Given the description of an element on the screen output the (x, y) to click on. 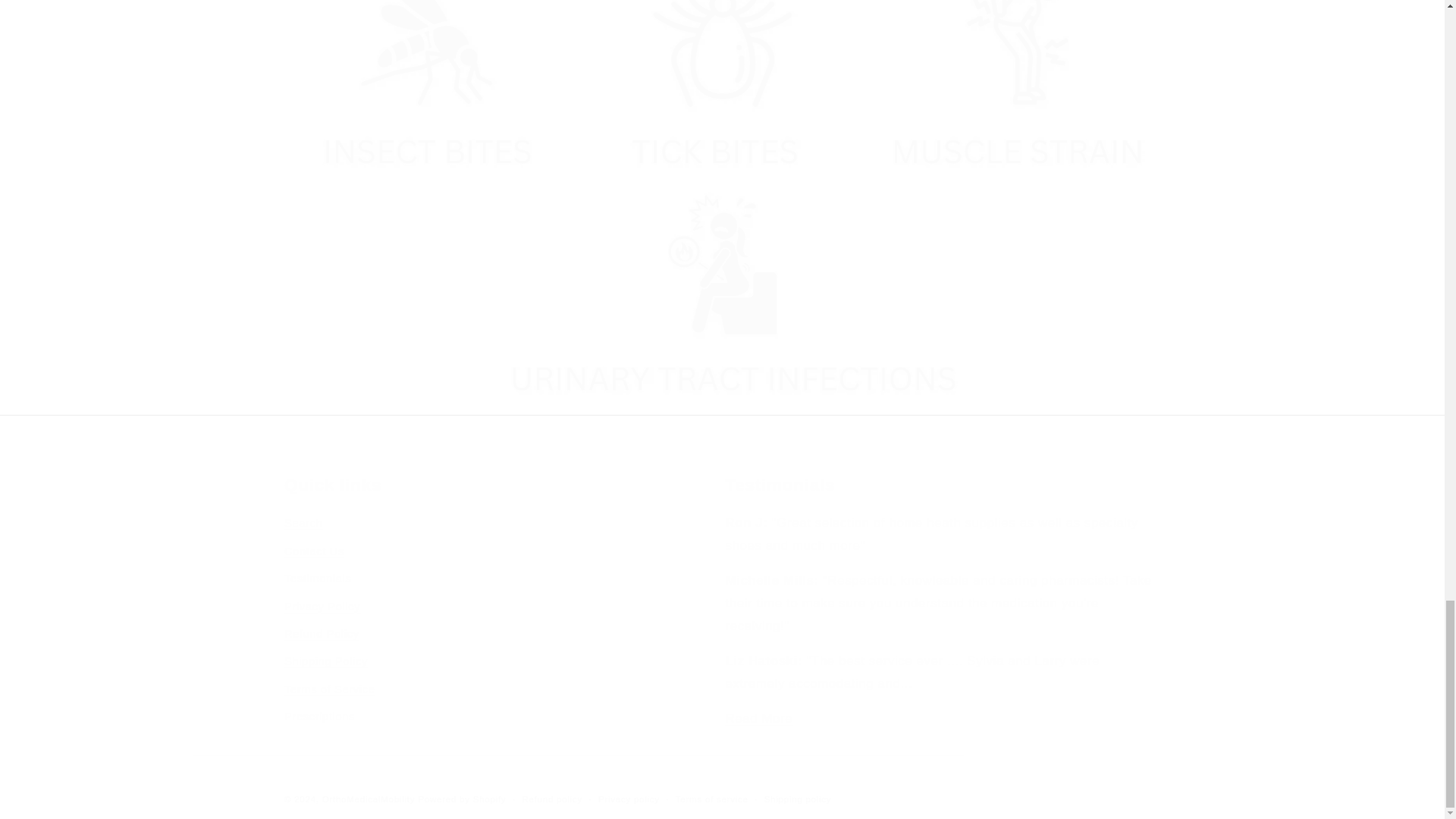
Testimonials (758, 718)
